Given the description of an element on the screen output the (x, y) to click on. 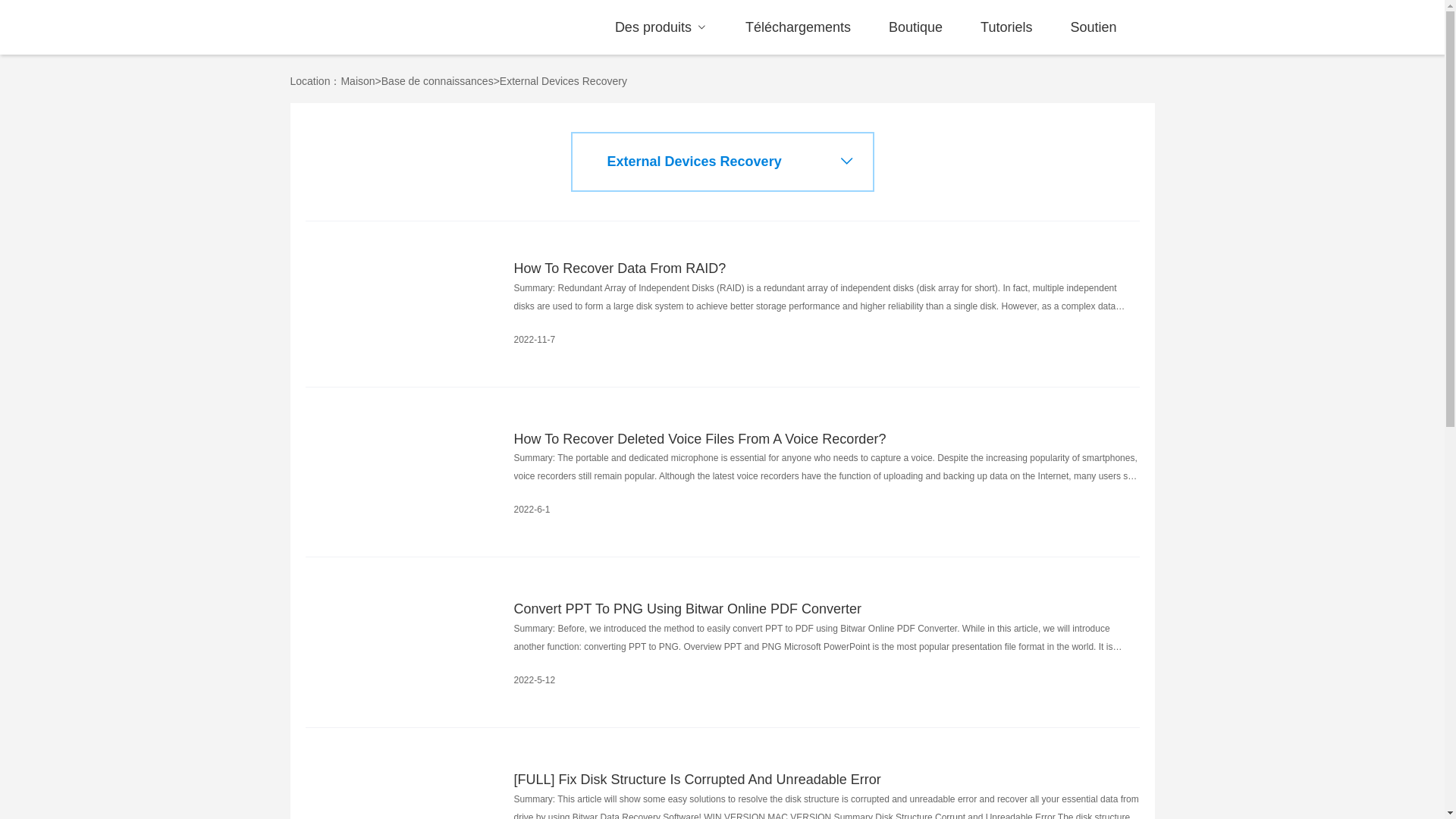
Soutien (1092, 27)
Base de connaissances (437, 80)
Tutoriels (1006, 27)
How To Recover Deleted Voice Files From A Voice Recorder? (826, 439)
Maison (357, 80)
How To Recover Data From RAID? (826, 269)
Des produits (661, 27)
Boutique (915, 27)
Convert PPT To PNG Using Bitwar Online PDF Converter (826, 609)
